Given the description of an element on the screen output the (x, y) to click on. 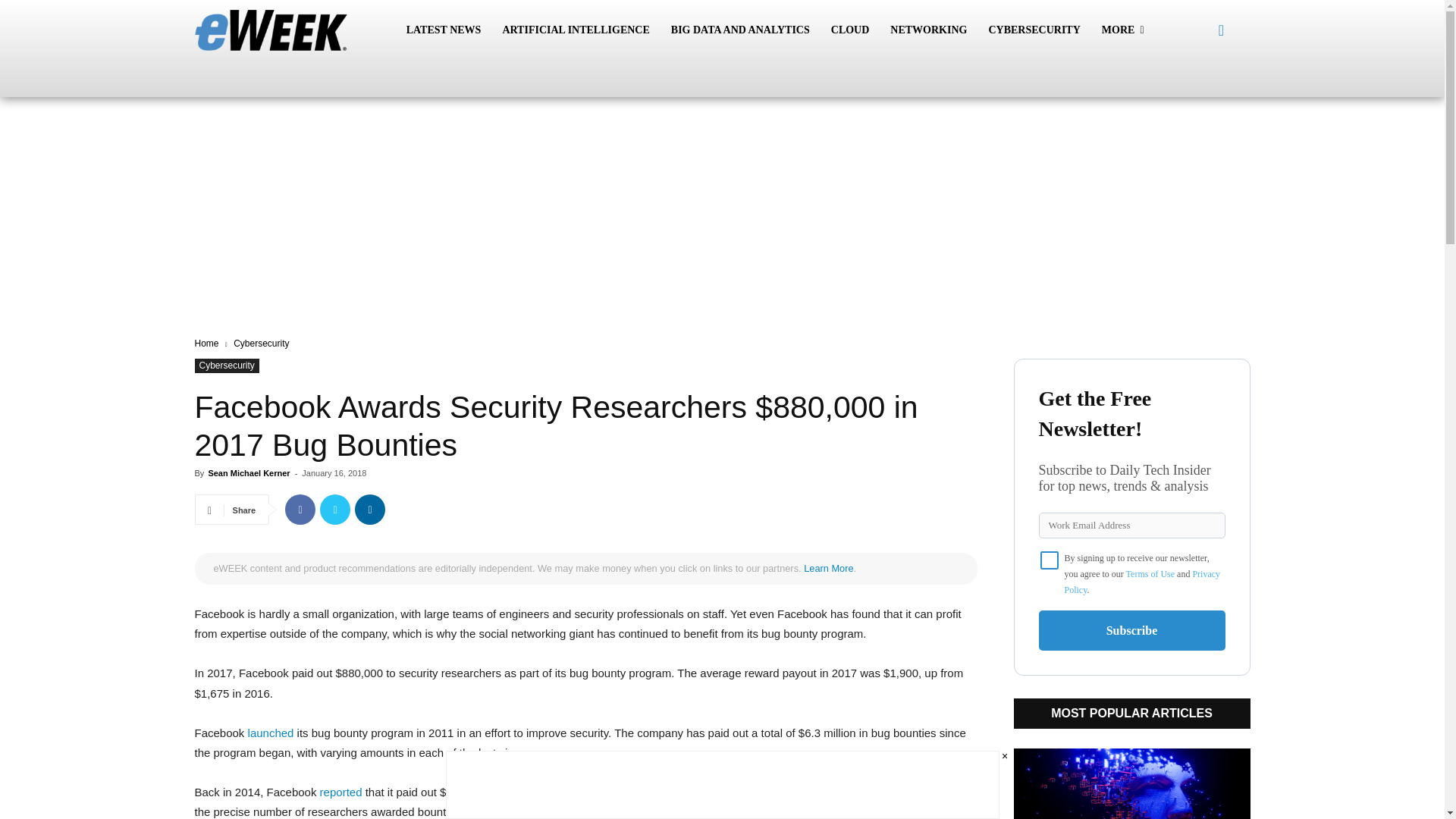
LATEST NEWS (444, 30)
CYBERSECURITY (1033, 30)
BIG DATA AND ANALYTICS (741, 30)
ARTIFICIAL INTELLIGENCE (575, 30)
Facebook (300, 509)
CLOUD (850, 30)
Twitter (335, 509)
on (1049, 560)
Linkedin (370, 509)
NETWORKING (927, 30)
